Given the description of an element on the screen output the (x, y) to click on. 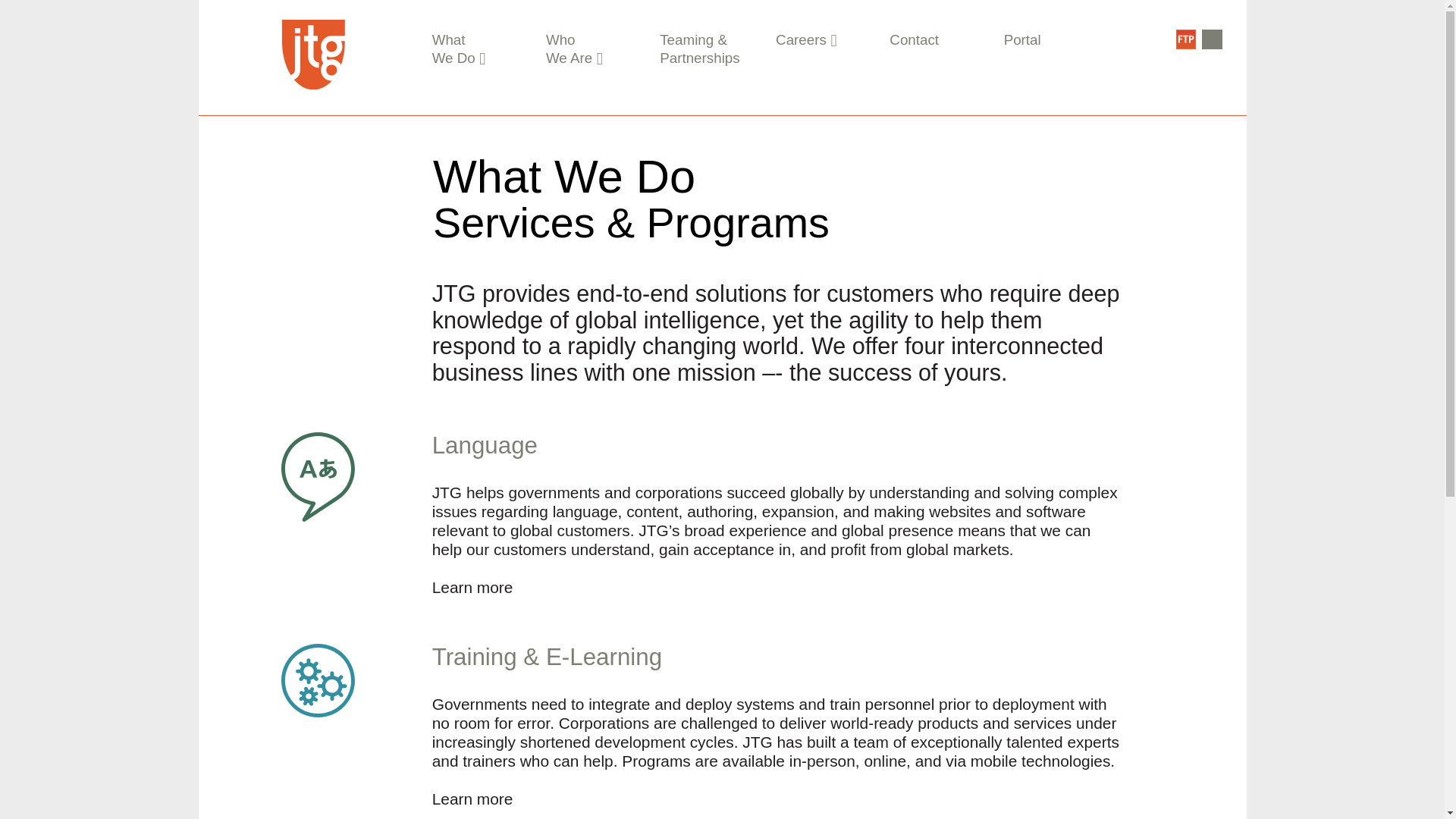
Learn more (472, 798)
Who We Are (578, 49)
Contact (914, 40)
What We Do (464, 49)
Portal (1022, 40)
Learn more (472, 587)
Careers (806, 40)
